Given the description of an element on the screen output the (x, y) to click on. 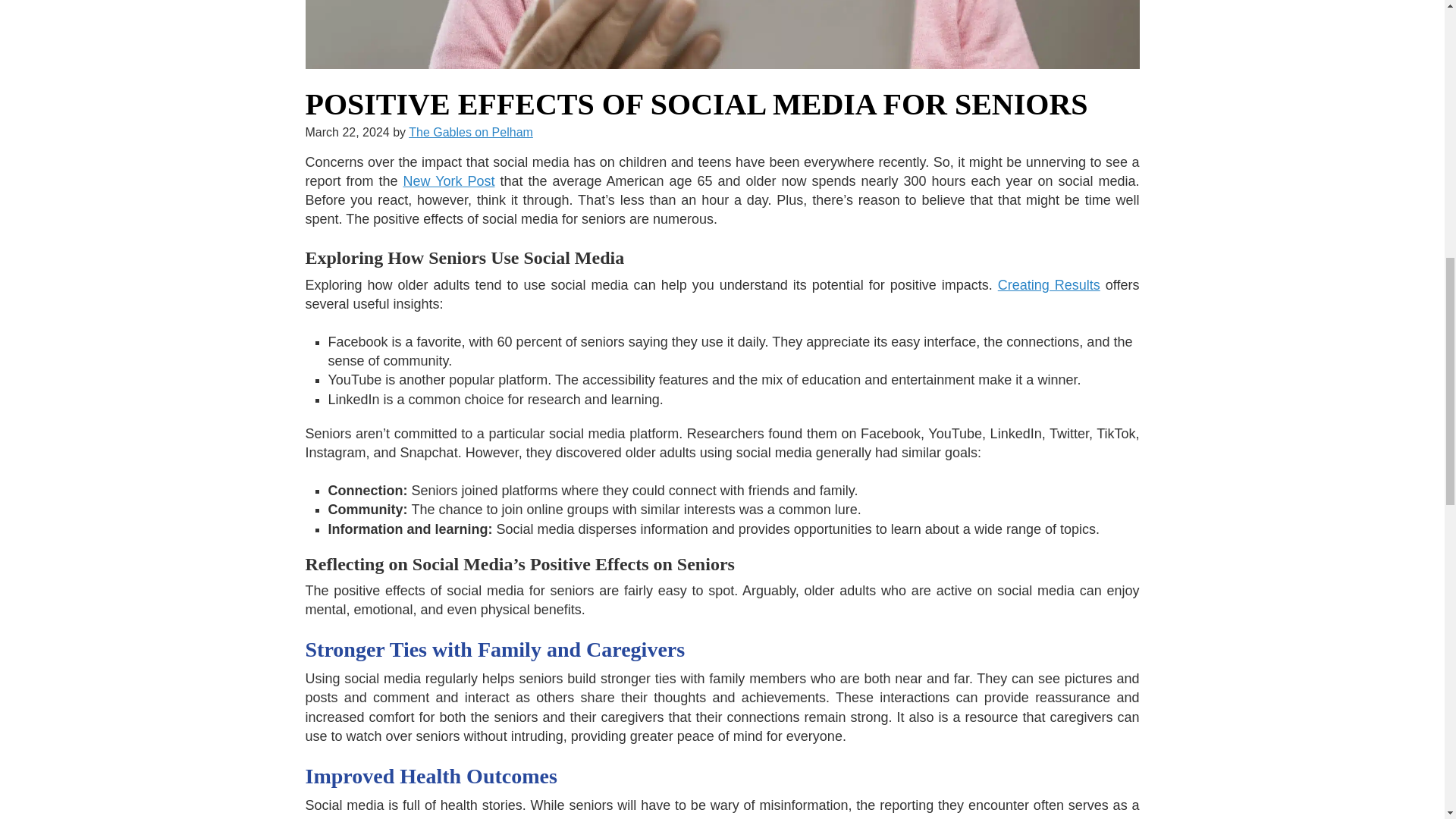
View all posts by The Gables on Pelham (470, 132)
New York Post (449, 181)
The Gables on Pelham (470, 132)
Creating Results (1048, 284)
